Given the description of an element on the screen output the (x, y) to click on. 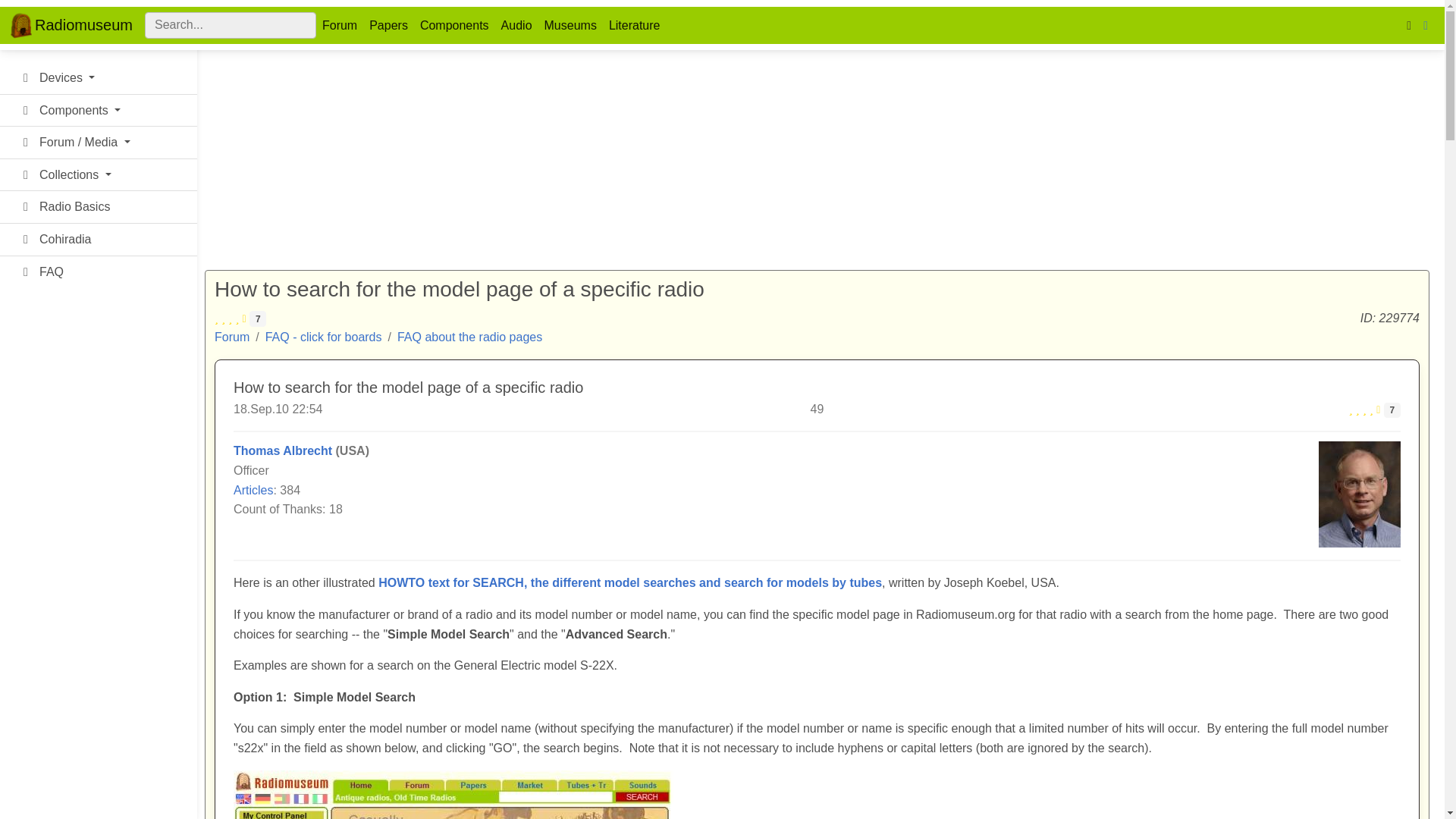
Literature (634, 24)
Forum (338, 24)
Radiomuseum (71, 25)
Components (454, 24)
FAQ (98, 272)
Papers (387, 24)
Radio Basics (98, 206)
Devices (98, 78)
Collections (98, 174)
Cohiradia (98, 239)
